Given the description of an element on the screen output the (x, y) to click on. 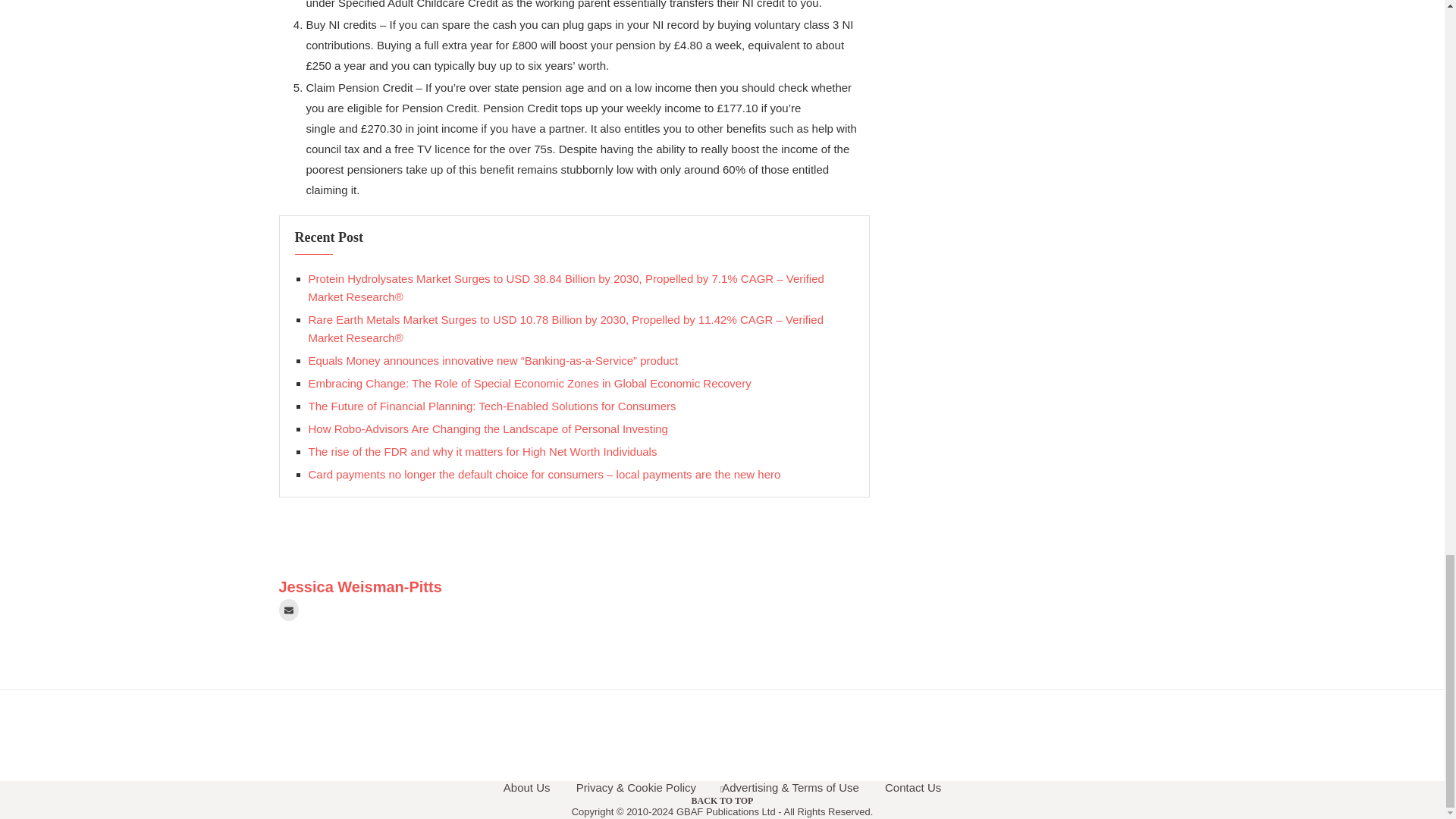
User email (288, 609)
Jessica Weisman-Pitts (360, 586)
